Given the description of an element on the screen output the (x, y) to click on. 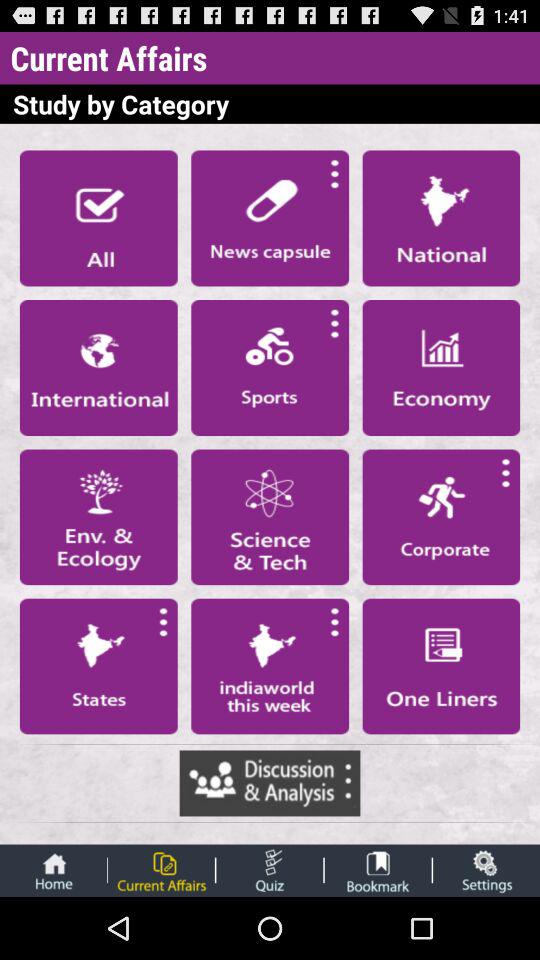
display bookmark (378, 870)
